Given the description of an element on the screen output the (x, y) to click on. 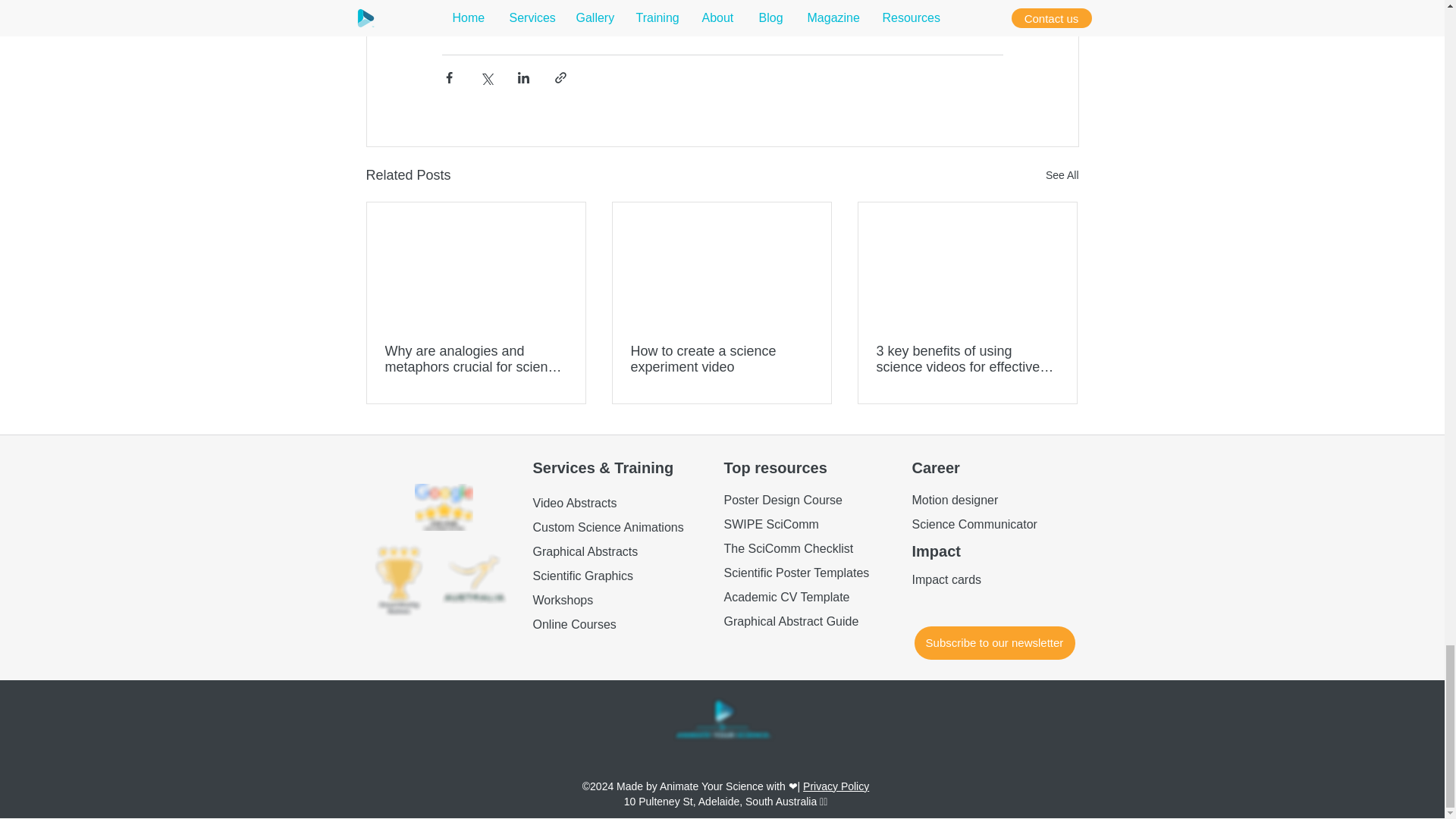
Click to read ou customer reviews (442, 507)
See All (1061, 175)
